Given the description of an element on the screen output the (x, y) to click on. 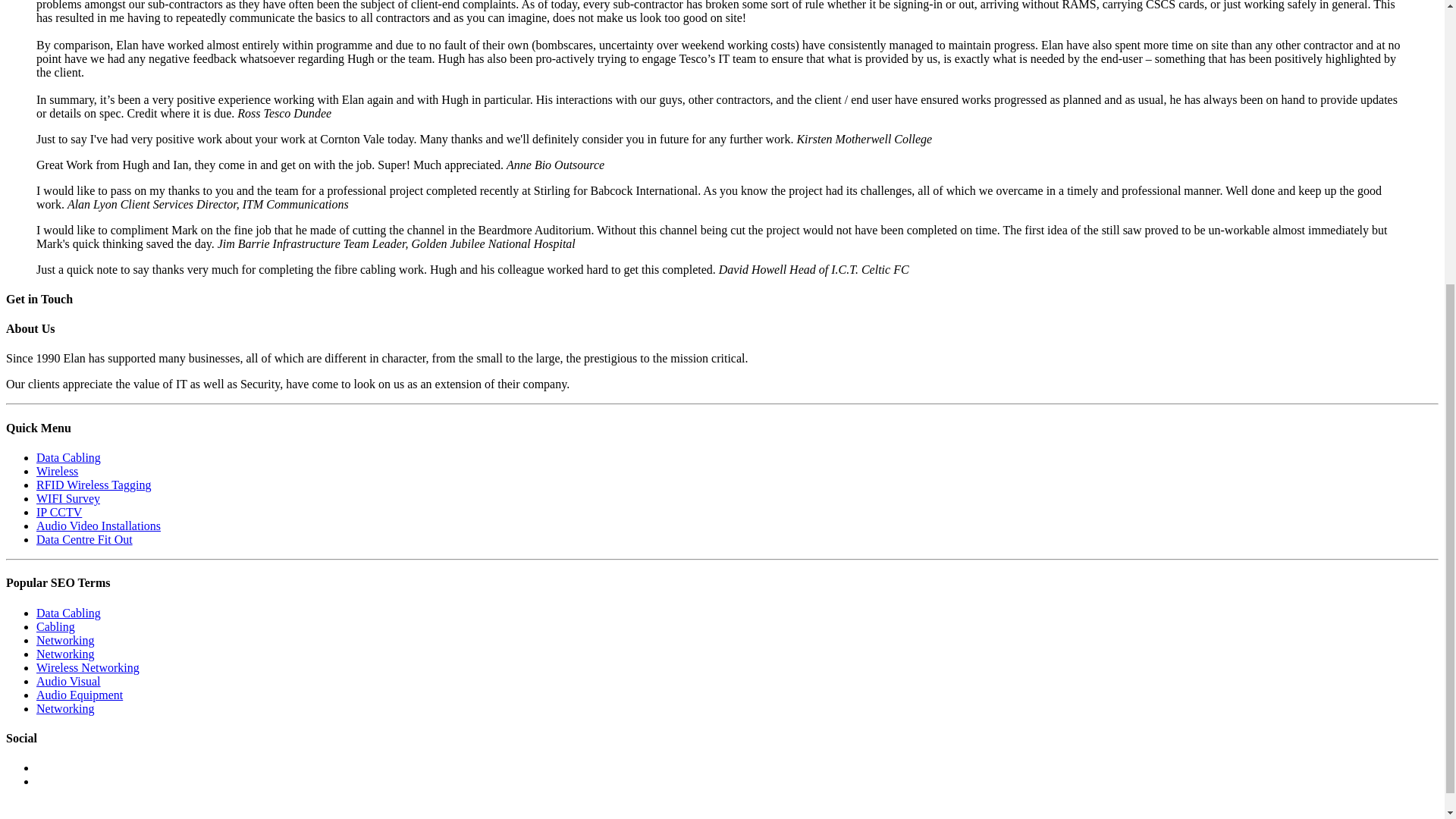
RFID Wireless Tagging (93, 484)
Networking (65, 640)
Audio Video Installations (98, 525)
Data Centre Fit Out (84, 539)
Data Cabling (68, 612)
IP CCTV (58, 512)
Networking (65, 653)
Wireless (57, 471)
Cabling (55, 626)
Data Cabling (68, 457)
WIFI Survey (68, 498)
Networking (65, 707)
Audio Equipment (79, 694)
Audio Visual (68, 680)
Wireless Networking (87, 667)
